Given the description of an element on the screen output the (x, y) to click on. 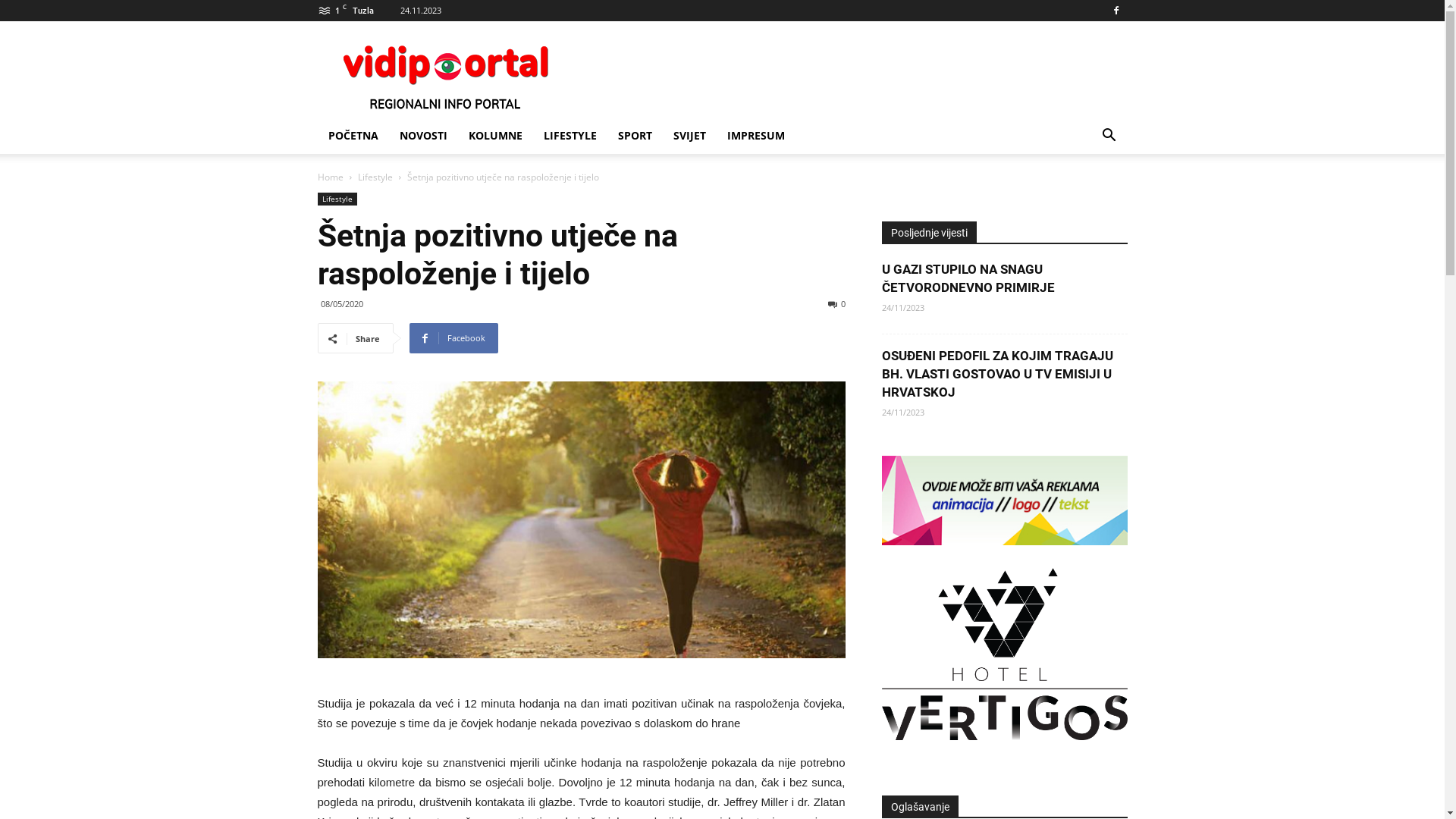
SPORT Element type: text (634, 135)
Facebook Element type: hover (1115, 10)
Facebook Element type: text (453, 338)
Search Element type: text (1085, 196)
0 Element type: text (836, 303)
SVIJET Element type: text (689, 135)
IMPRESUM Element type: text (754, 135)
NOVOSTI Element type: text (422, 135)
Lifestyle Element type: text (336, 198)
setnja Element type: hover (580, 519)
LIFESTYLE Element type: text (569, 135)
KOLUMNE Element type: text (495, 135)
Home Element type: text (329, 176)
Lifestyle Element type: text (374, 176)
